Given the description of an element on the screen output the (x, y) to click on. 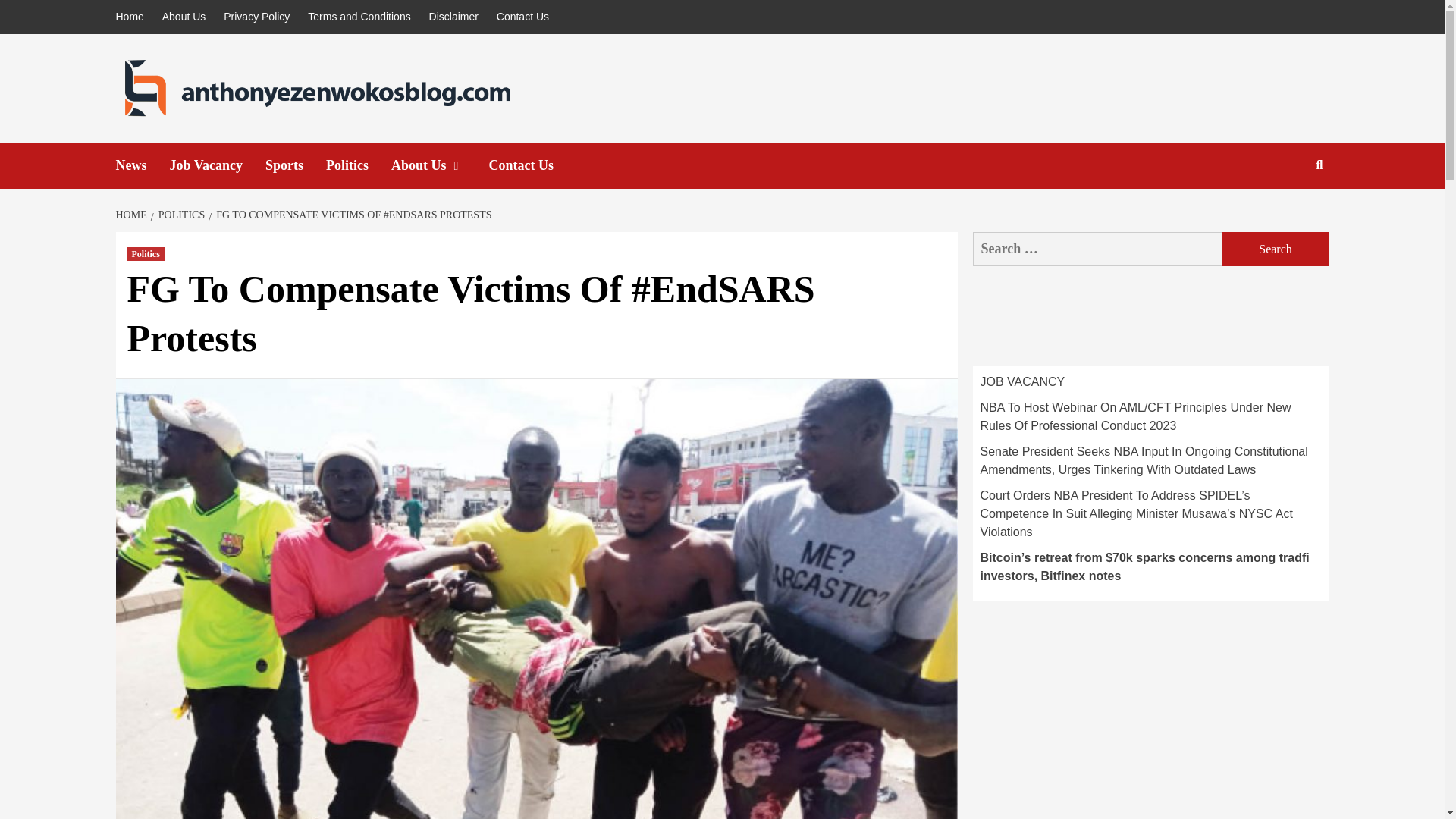
About Us (439, 165)
Contact Us (531, 165)
Job Vacancy (218, 165)
About Us (184, 17)
Politics (146, 254)
Search (1276, 248)
Sports (295, 165)
Search (1283, 213)
HOME (132, 214)
Terms and Conditions (358, 17)
